Given the description of an element on the screen output the (x, y) to click on. 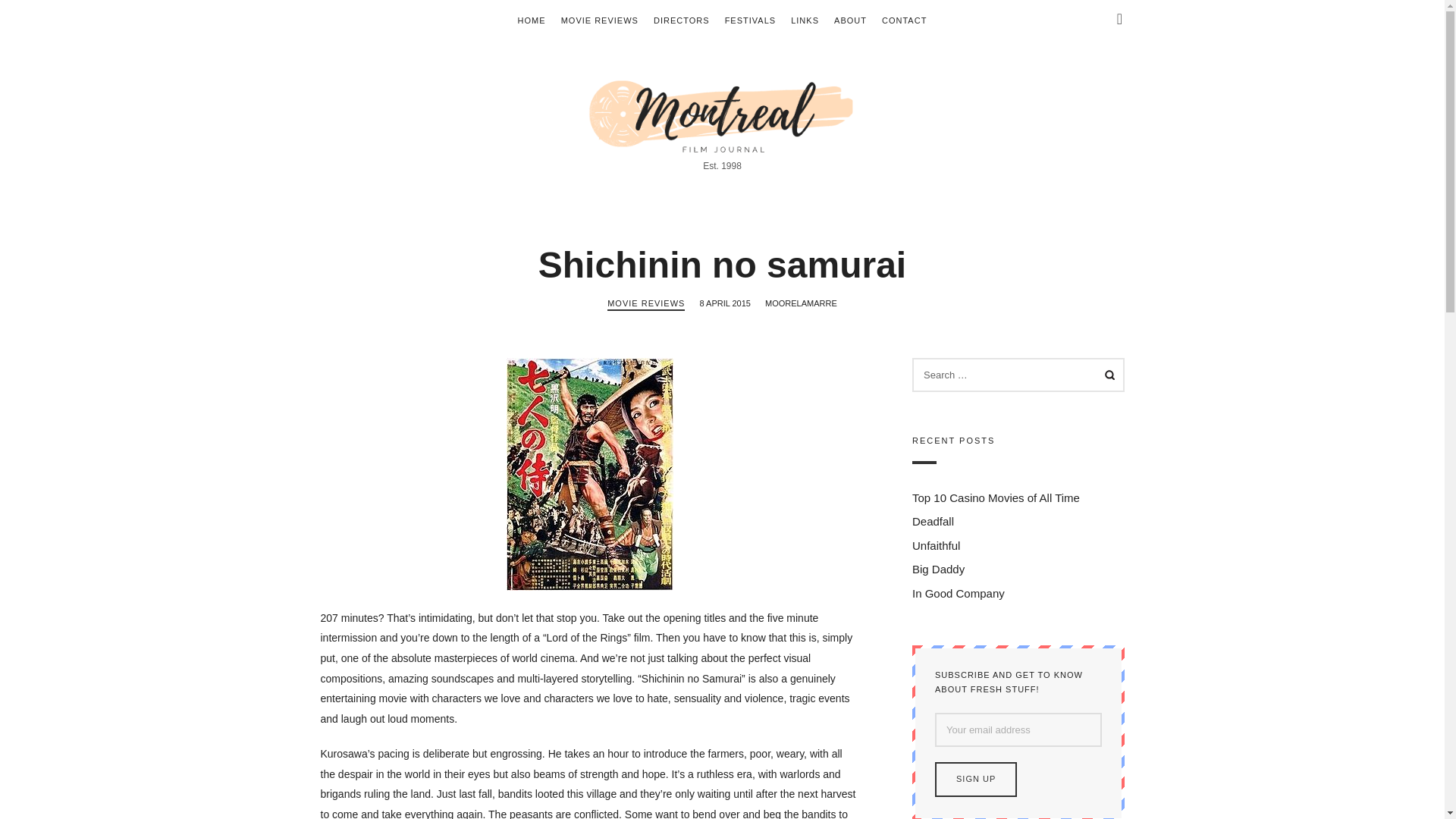
Deadfall (932, 521)
MOVIE REVIEWS (599, 20)
CONTACT (904, 20)
Unfaithful (935, 545)
Sign up (975, 779)
MOORELAMARRE (801, 302)
Big Daddy (937, 569)
FESTIVALS (750, 20)
Sign up (975, 779)
Top 10 Casino Movies of All Time (994, 497)
